Given the description of an element on the screen output the (x, y) to click on. 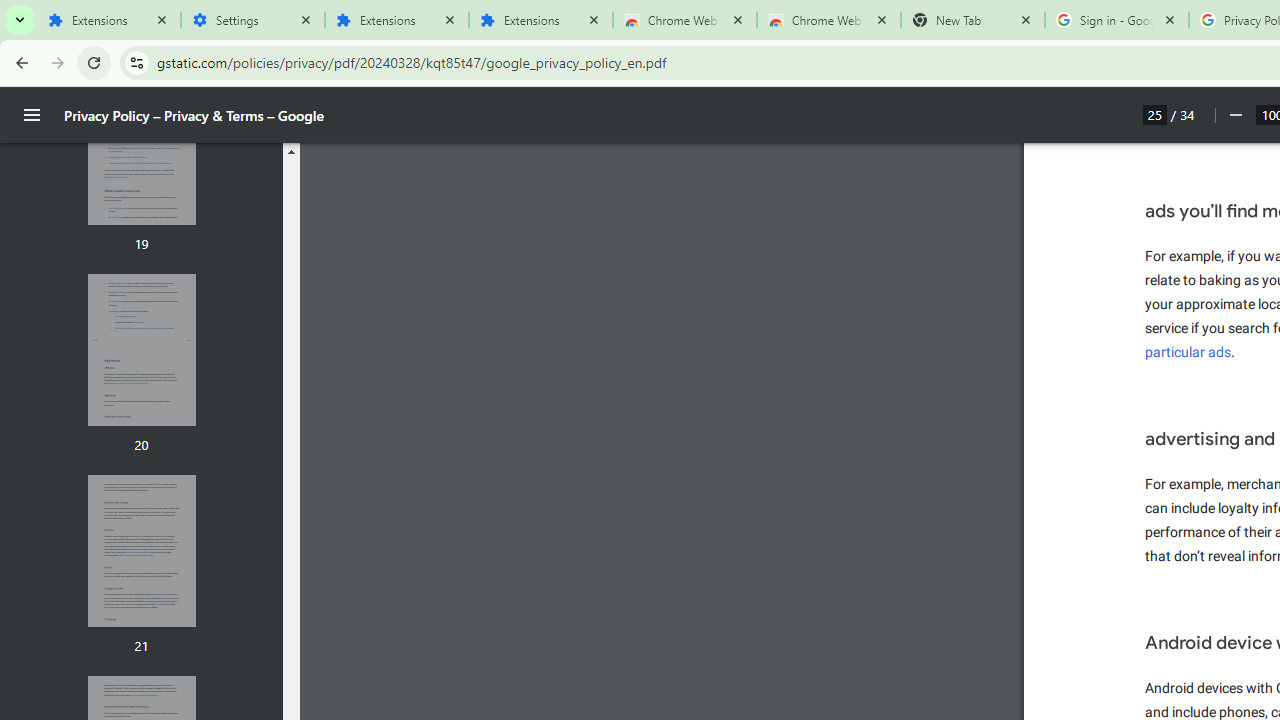
Chrome Web Store (684, 20)
Thumbnail for page 19 (141, 148)
Chrome Web Store - Themes (828, 20)
Page number (1155, 114)
AutomationID: thumbnail (141, 551)
Extensions (540, 20)
Extensions (108, 20)
Zoom out (1234, 115)
Menu (31, 115)
New Tab (972, 20)
